Given the description of an element on the screen output the (x, y) to click on. 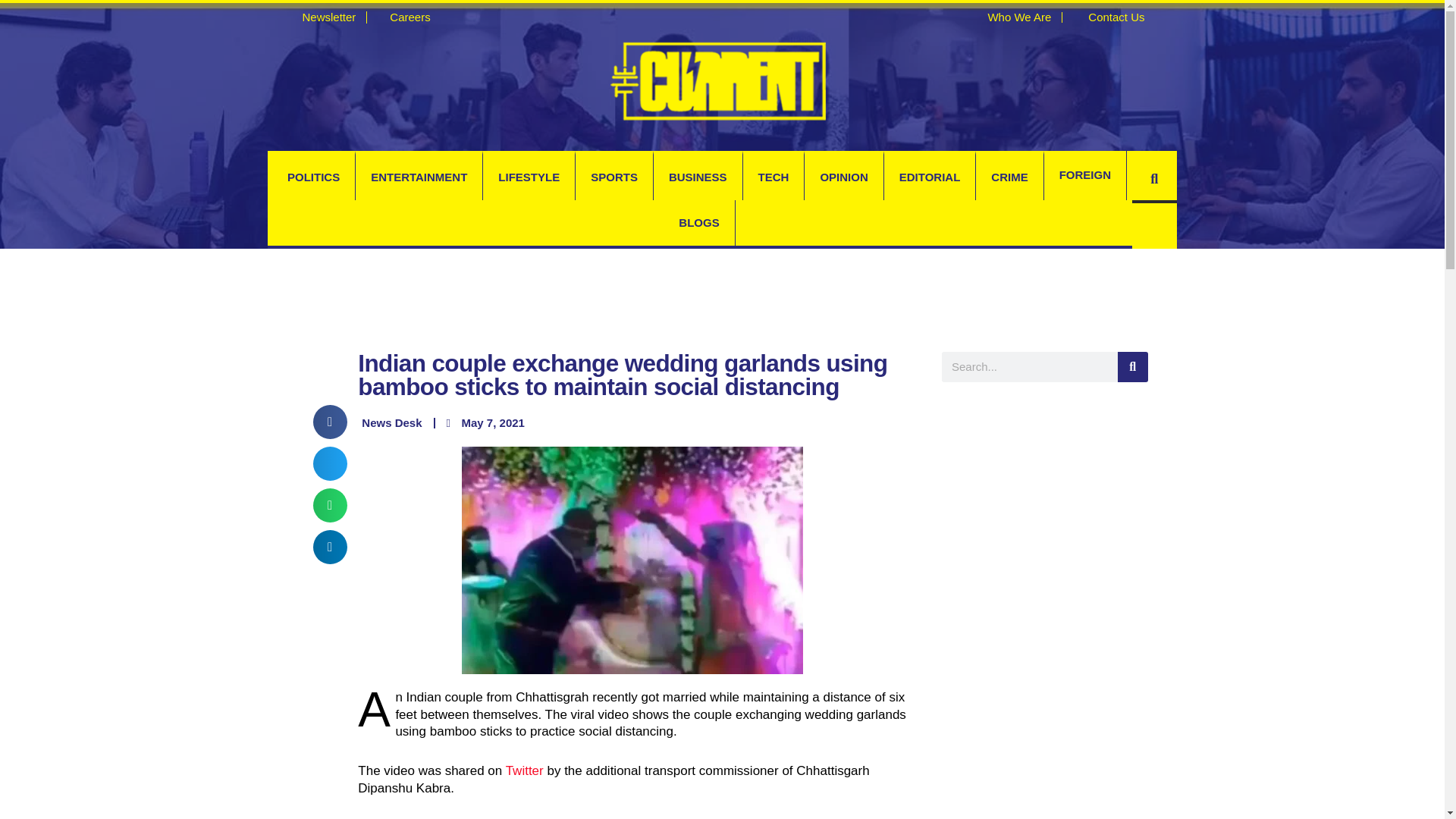
TECH (773, 176)
BUSINESS (697, 176)
Careers (403, 17)
POLITICS (313, 176)
SPORTS (613, 176)
EDITORIAL (929, 176)
FOREIGN (1084, 174)
BLOGS (698, 222)
CRIME (1008, 176)
Newsletter (322, 17)
